Given the description of an element on the screen output the (x, y) to click on. 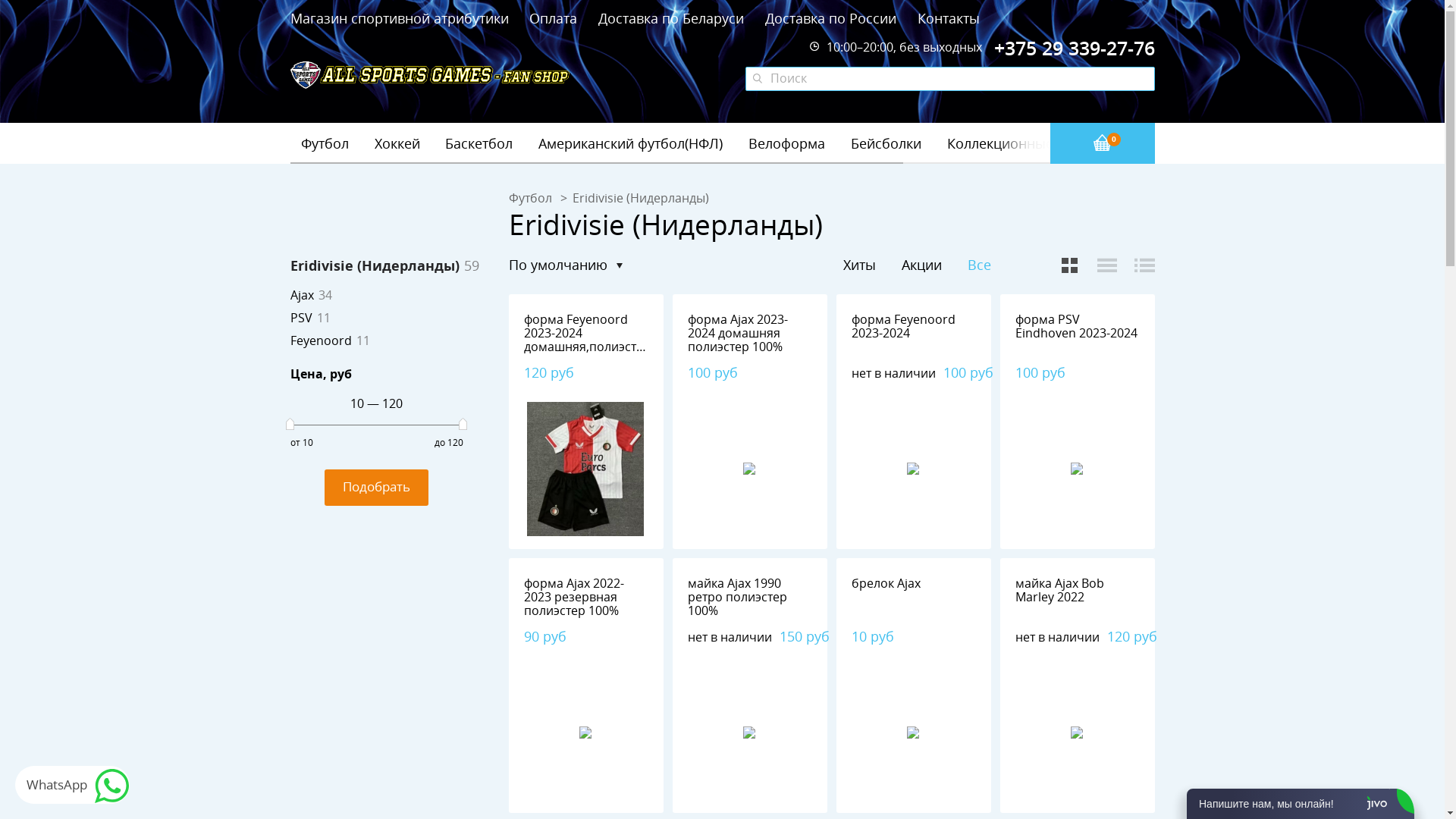
Ajax34 Element type: text (310, 295)
Feyenoord11 Element type: text (329, 340)
PSV11 Element type: text (309, 318)
WhatsApp Element type: text (72, 784)
+375 29 339-27-76 Element type: text (1073, 48)
0 Element type: text (1101, 142)
